Given the description of an element on the screen output the (x, y) to click on. 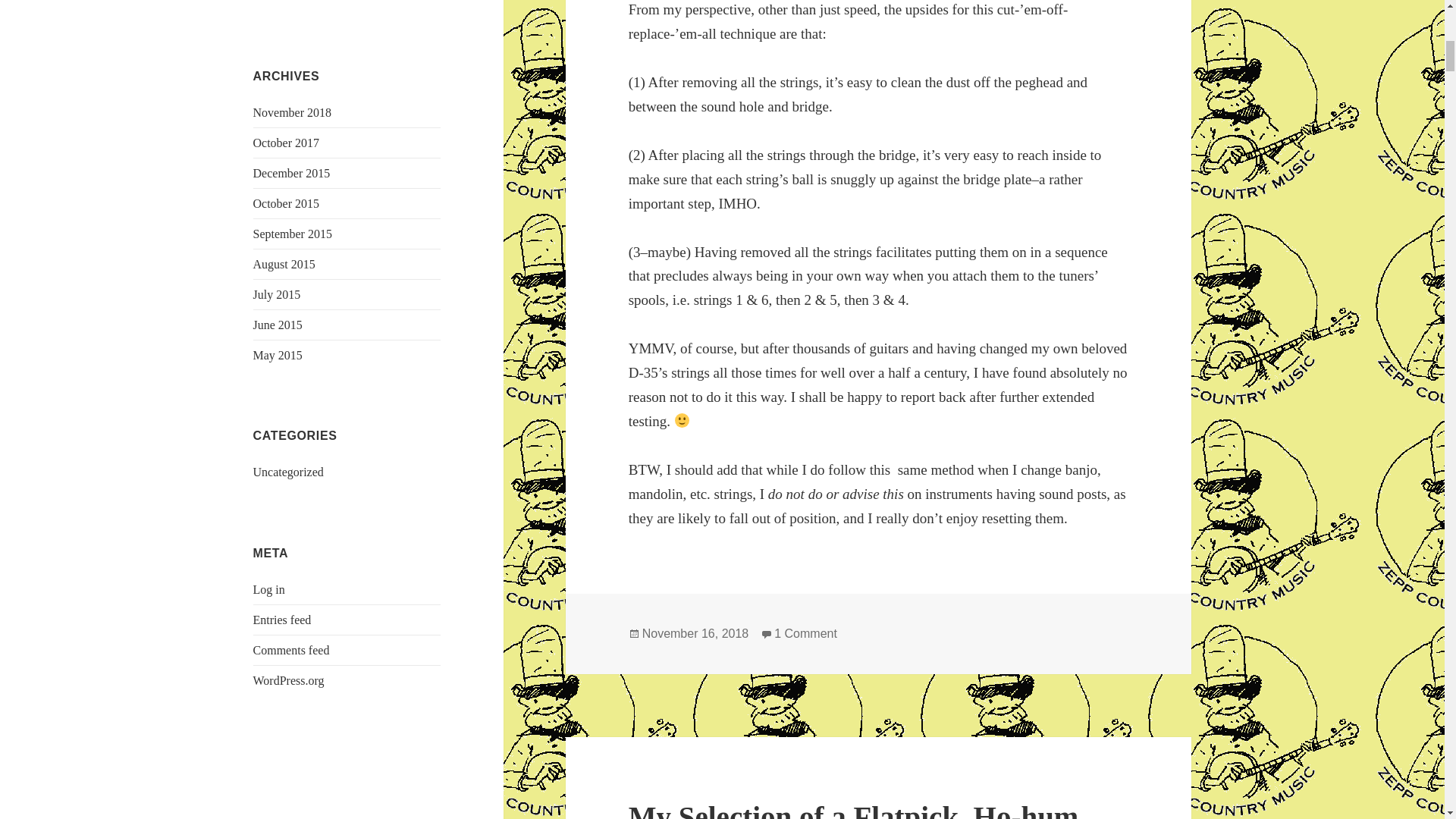
June 2015 (277, 324)
Comments feed (291, 649)
Entries feed (282, 619)
July 2015 (277, 294)
Uncategorized (288, 472)
WordPress.org (288, 680)
November 16, 2018 (695, 633)
Log in (269, 589)
December 2015 (291, 173)
October 2015 (286, 203)
August 2015 (284, 264)
November 2018 (292, 112)
September 2015 (292, 233)
October 2017 (286, 142)
